Given the description of an element on the screen output the (x, y) to click on. 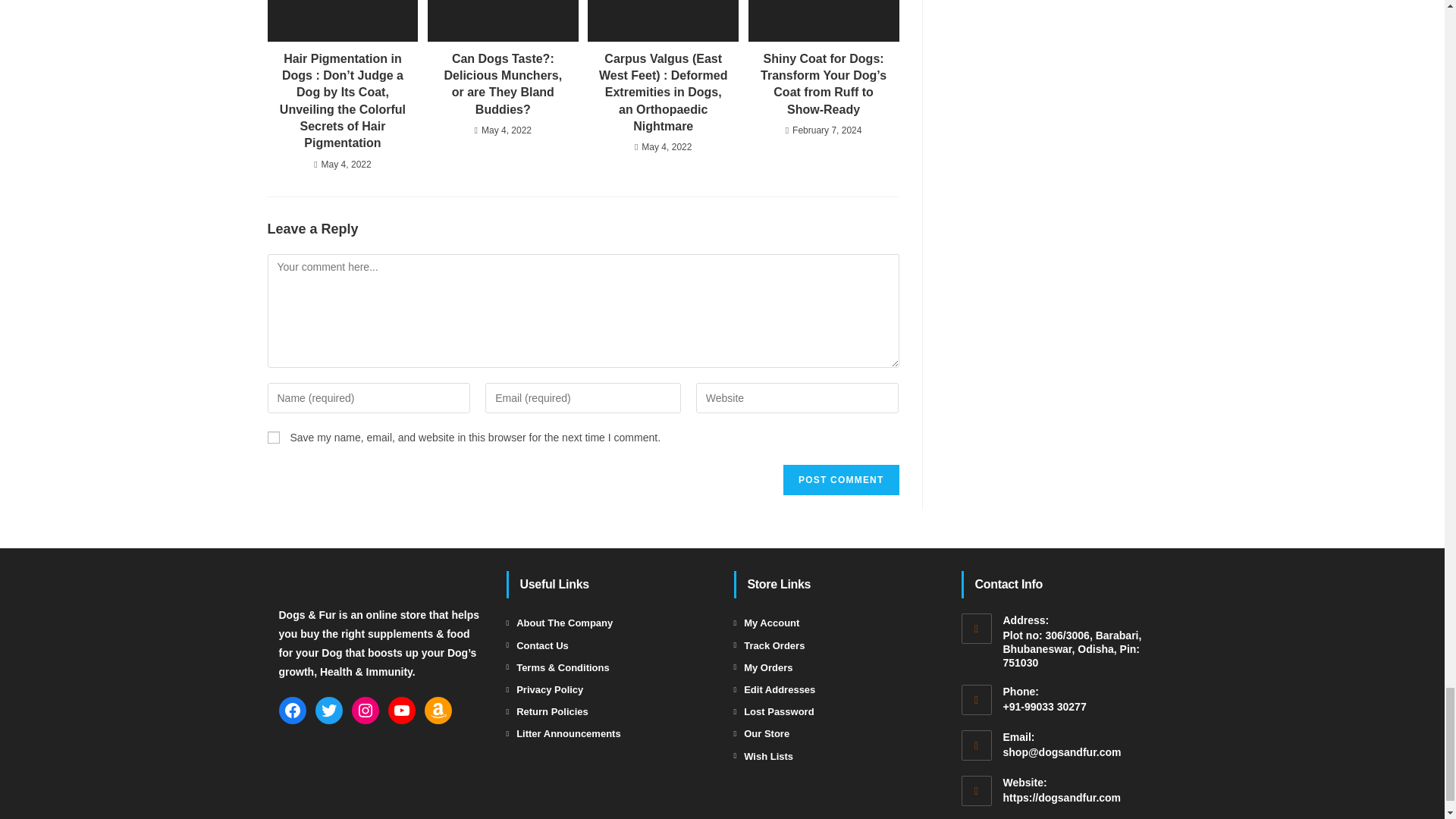
Post Comment (840, 480)
yes (272, 437)
